Given the description of an element on the screen output the (x, y) to click on. 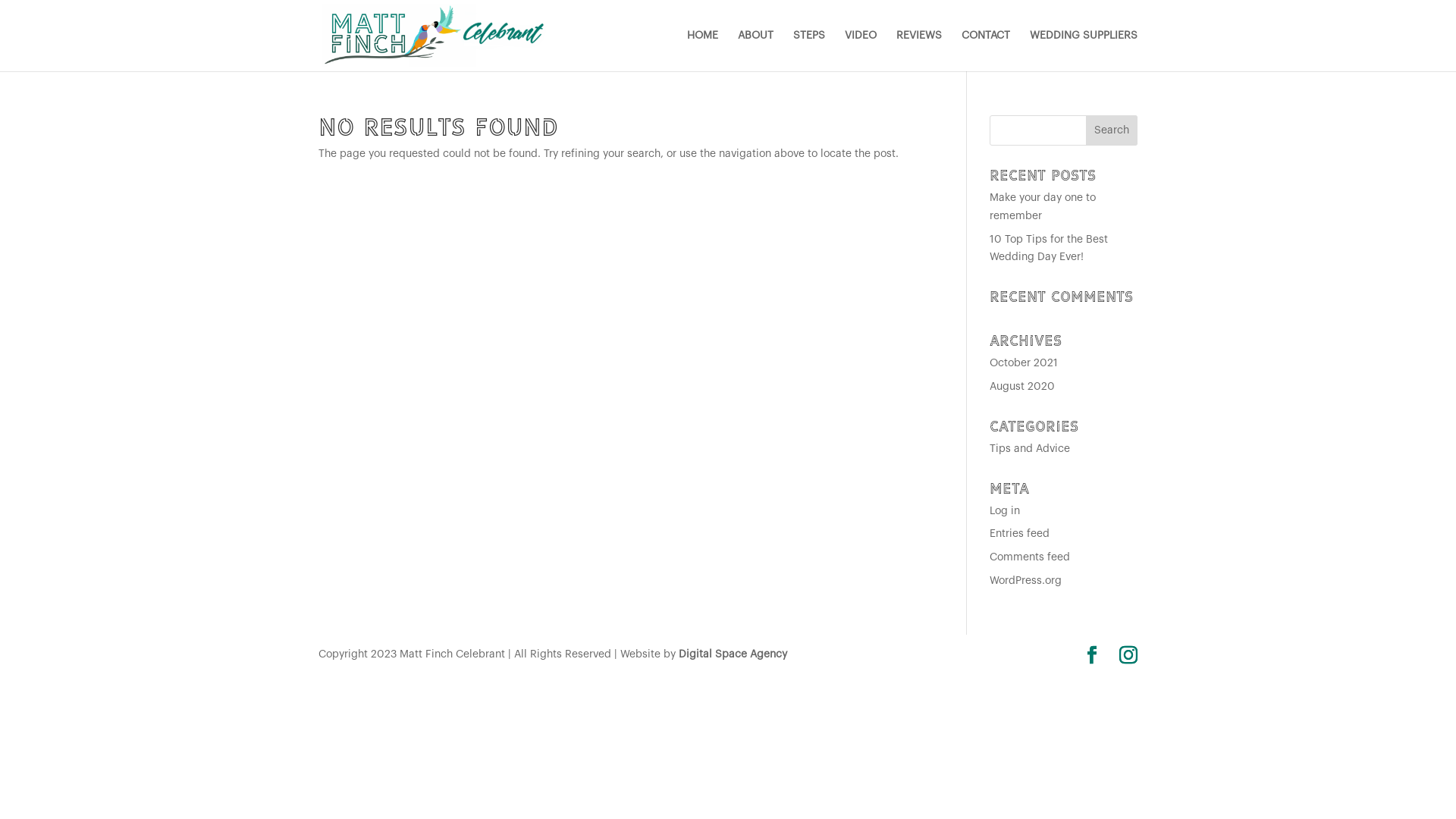
October 2021 Element type: text (1023, 362)
Tips and Advice Element type: text (1029, 448)
Entries feed Element type: text (1019, 533)
Digital Space Agency Element type: text (732, 654)
CONTACT Element type: text (985, 50)
Make your day one to remember Element type: text (1042, 206)
REVIEWS Element type: text (918, 50)
Search Element type: text (1111, 130)
HOME Element type: text (702, 50)
ABOUT Element type: text (755, 50)
Comments feed Element type: text (1029, 557)
STEPS Element type: text (809, 50)
10 Top Tips for the Best Wedding Day Ever! Element type: text (1048, 248)
Log in Element type: text (1004, 510)
August 2020 Element type: text (1021, 386)
WordPress.org Element type: text (1025, 580)
VIDEO Element type: text (860, 50)
WEDDING SUPPLIERS Element type: text (1083, 50)
